Given the description of an element on the screen output the (x, y) to click on. 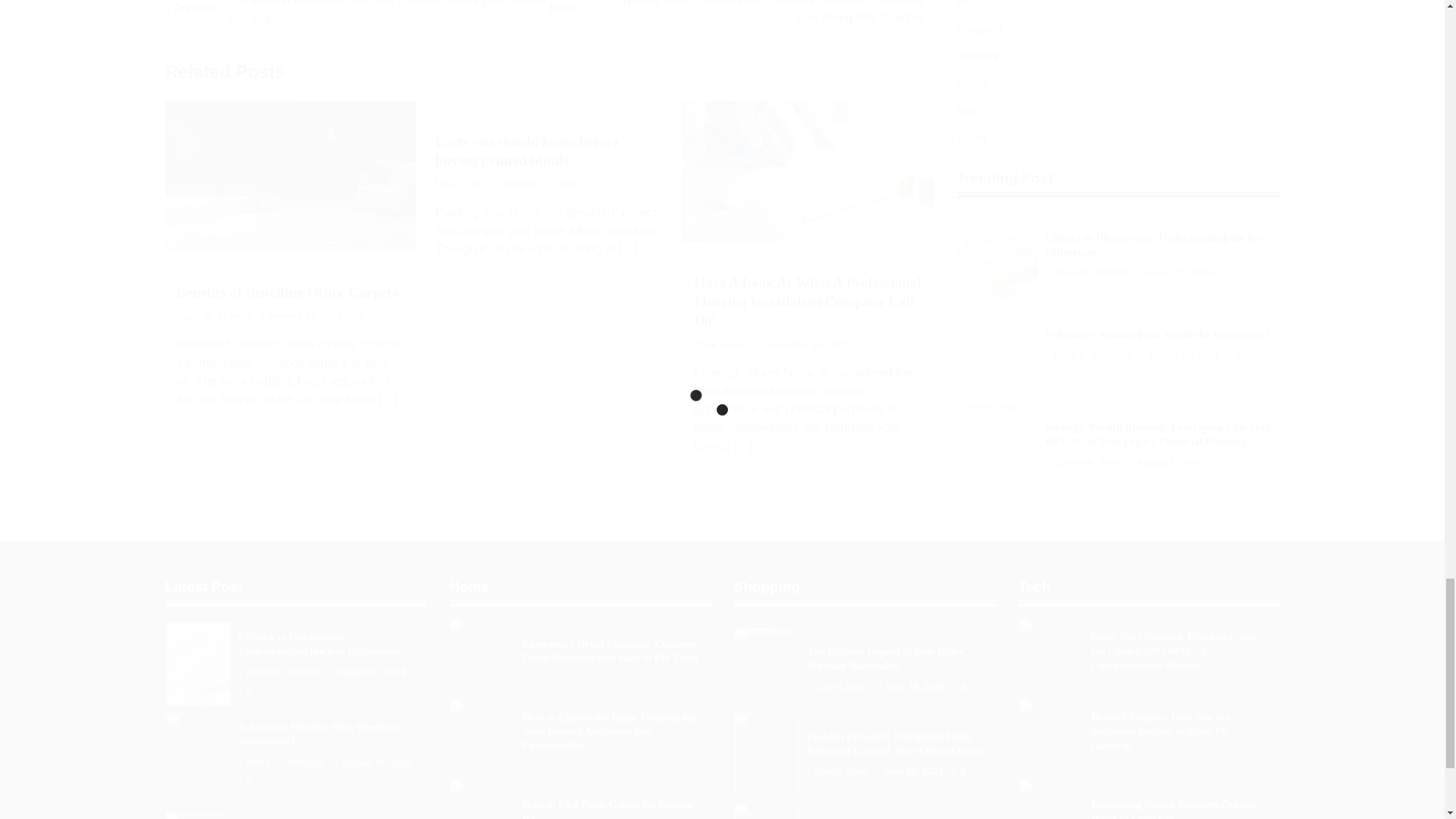
Benefits of Installing Office Carpets (286, 292)
Facts you should know before buying printed blinds (526, 150)
Lisa L. Cain (460, 184)
HOME (449, 120)
HOME (190, 270)
HOME (708, 261)
Clare Louise (721, 344)
David M. Ricketts (213, 316)
